Given the description of an element on the screen output the (x, y) to click on. 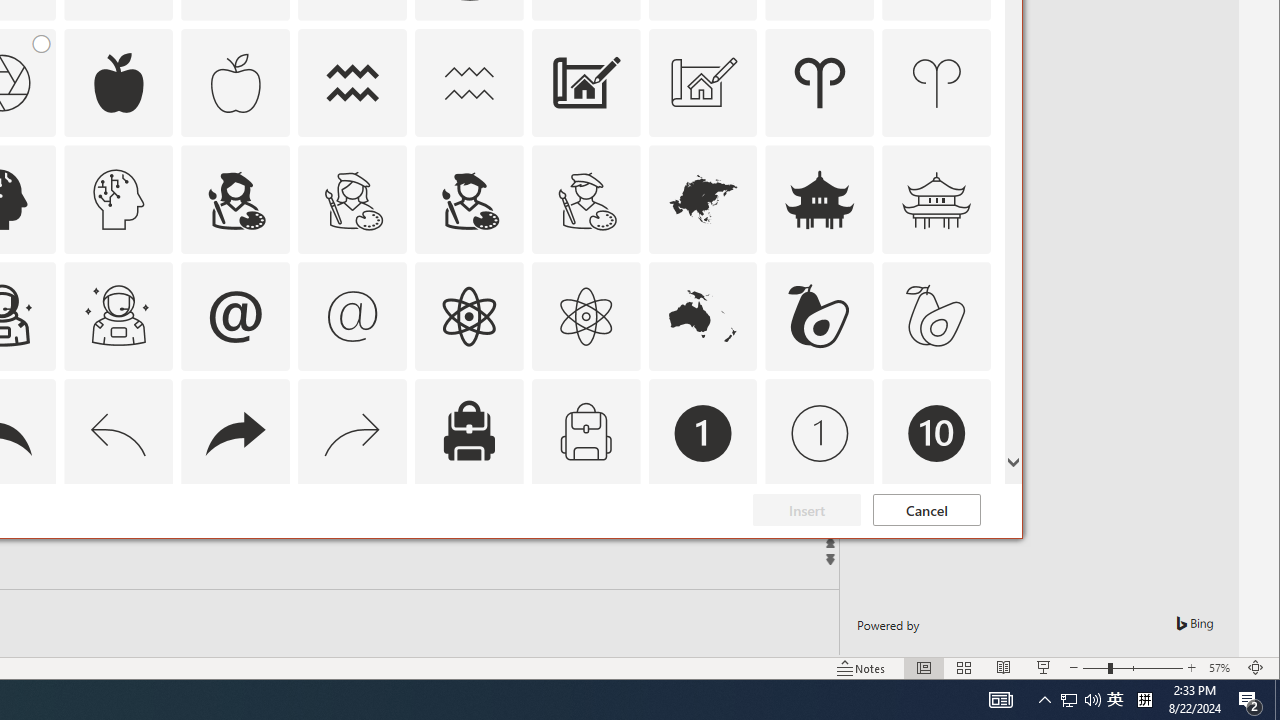
Notes  (1069, 699)
Show desktop (861, 668)
AutomationID: Icons_Backpack (1277, 699)
AutomationID: Icons_AstronautMale_M (468, 434)
AutomationID: Icons_Badge6 (118, 316)
AutomationID: Icons_Back_RTL_M (118, 550)
AutomationID: Icons_At_M (353, 434)
